Given the description of an element on the screen output the (x, y) to click on. 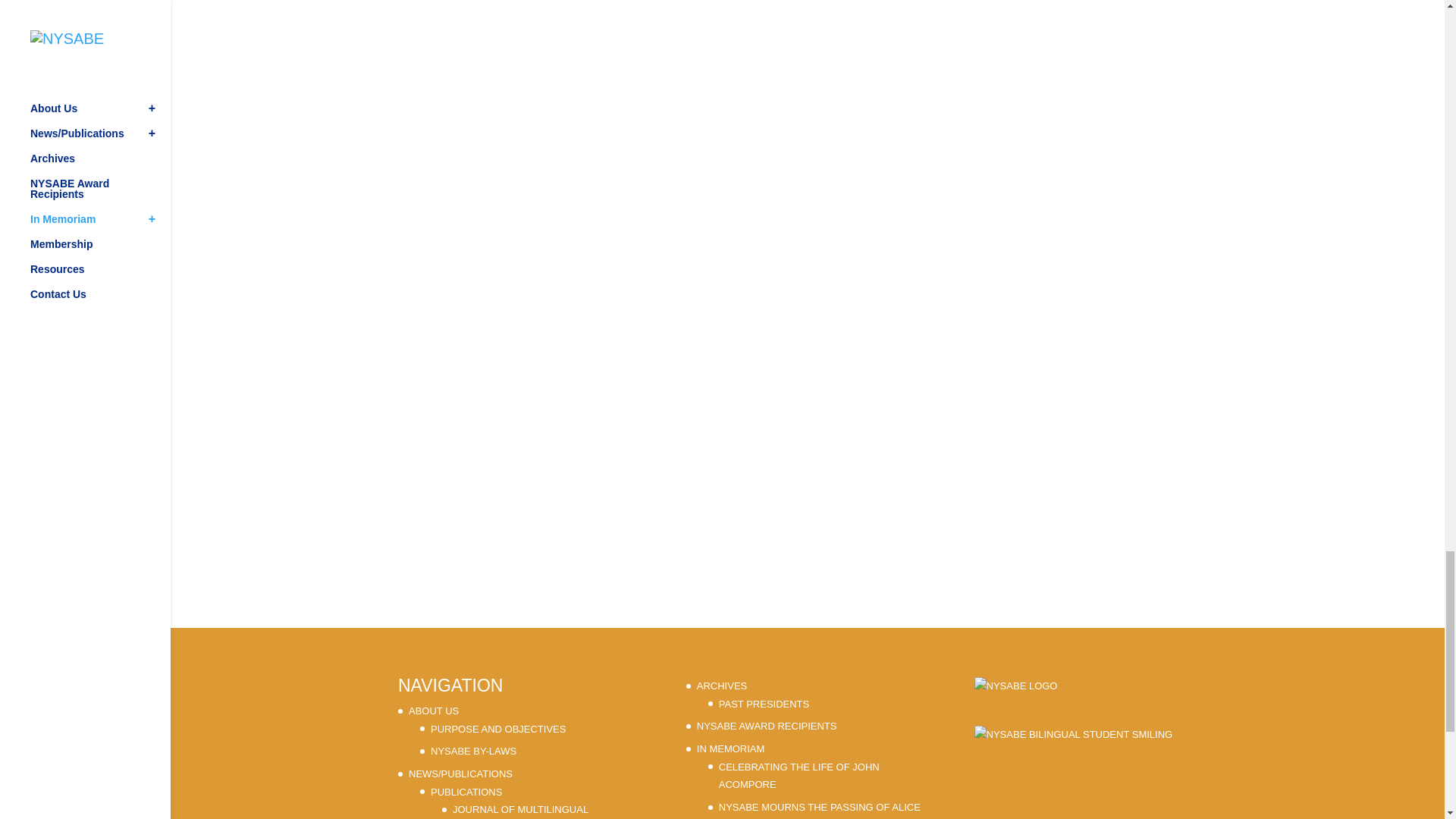
NYSABE Logo (1016, 700)
PUBLICATIONS (466, 791)
ABOUT US (433, 710)
NYSABE BY-LAWS (473, 750)
PURPOSE AND OBJECTIVES (498, 728)
